Given the description of an element on the screen output the (x, y) to click on. 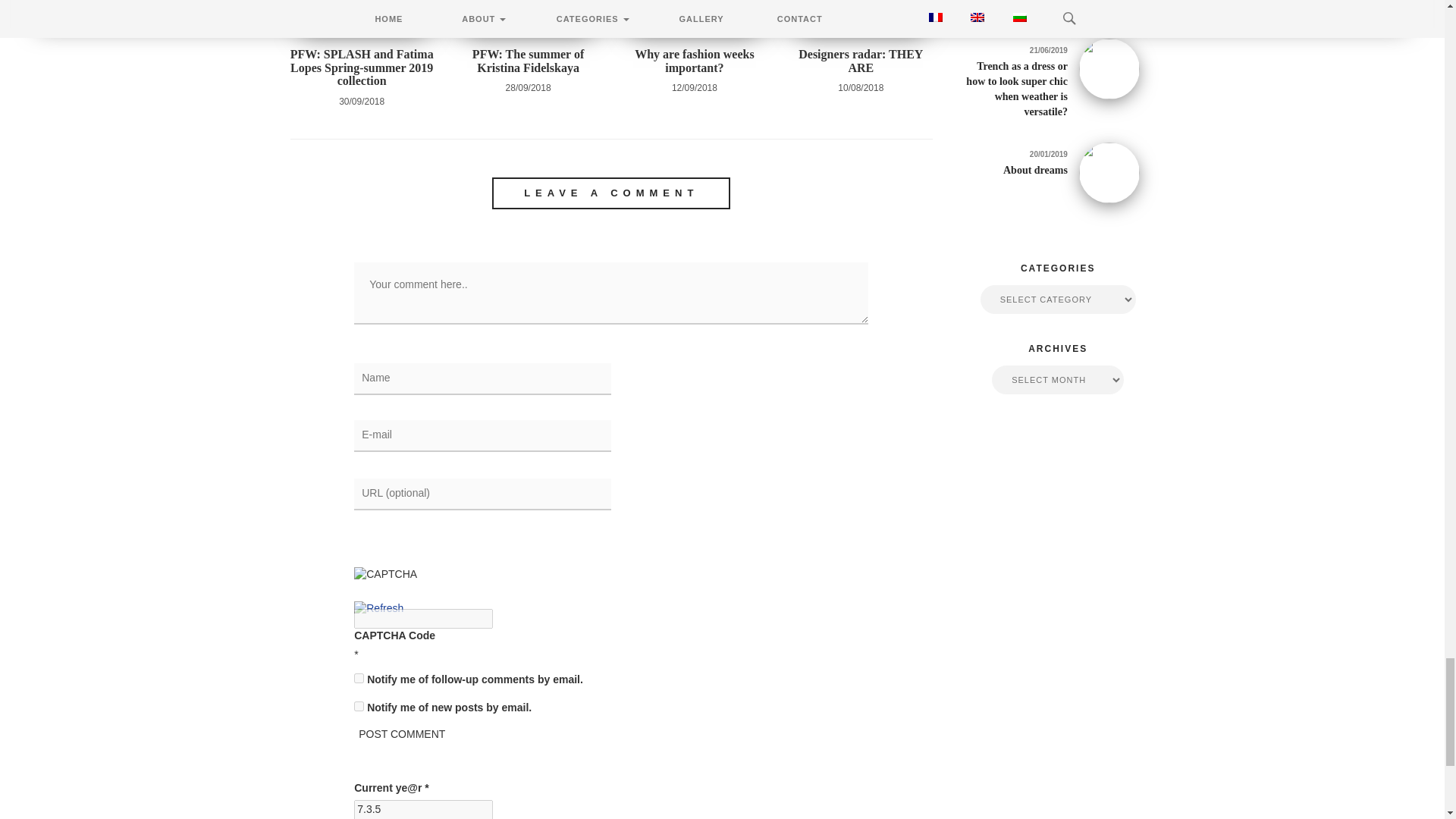
7.3.5 (423, 809)
subscribe (358, 678)
subscribe (358, 706)
Post Comment (401, 734)
